Given the description of an element on the screen output the (x, y) to click on. 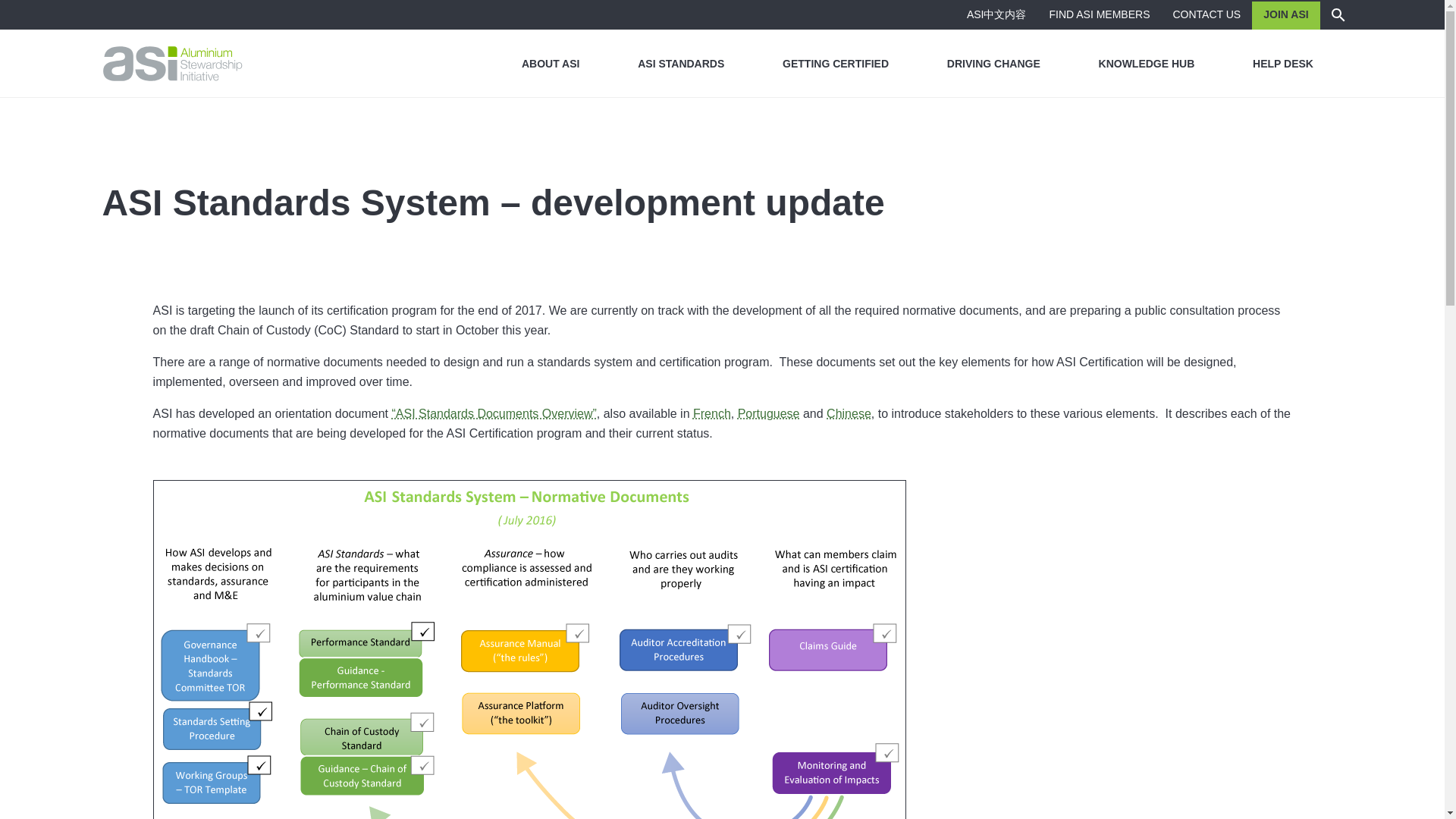
ABOUT ASI (550, 63)
FIND ASI MEMBERS (1098, 14)
JOIN ASI (1285, 14)
CONTACT US (1206, 14)
GETTING CERTIFIED (836, 63)
ASI STANDARDS (681, 63)
DRIVING CHANGE (992, 63)
